Given the description of an element on the screen output the (x, y) to click on. 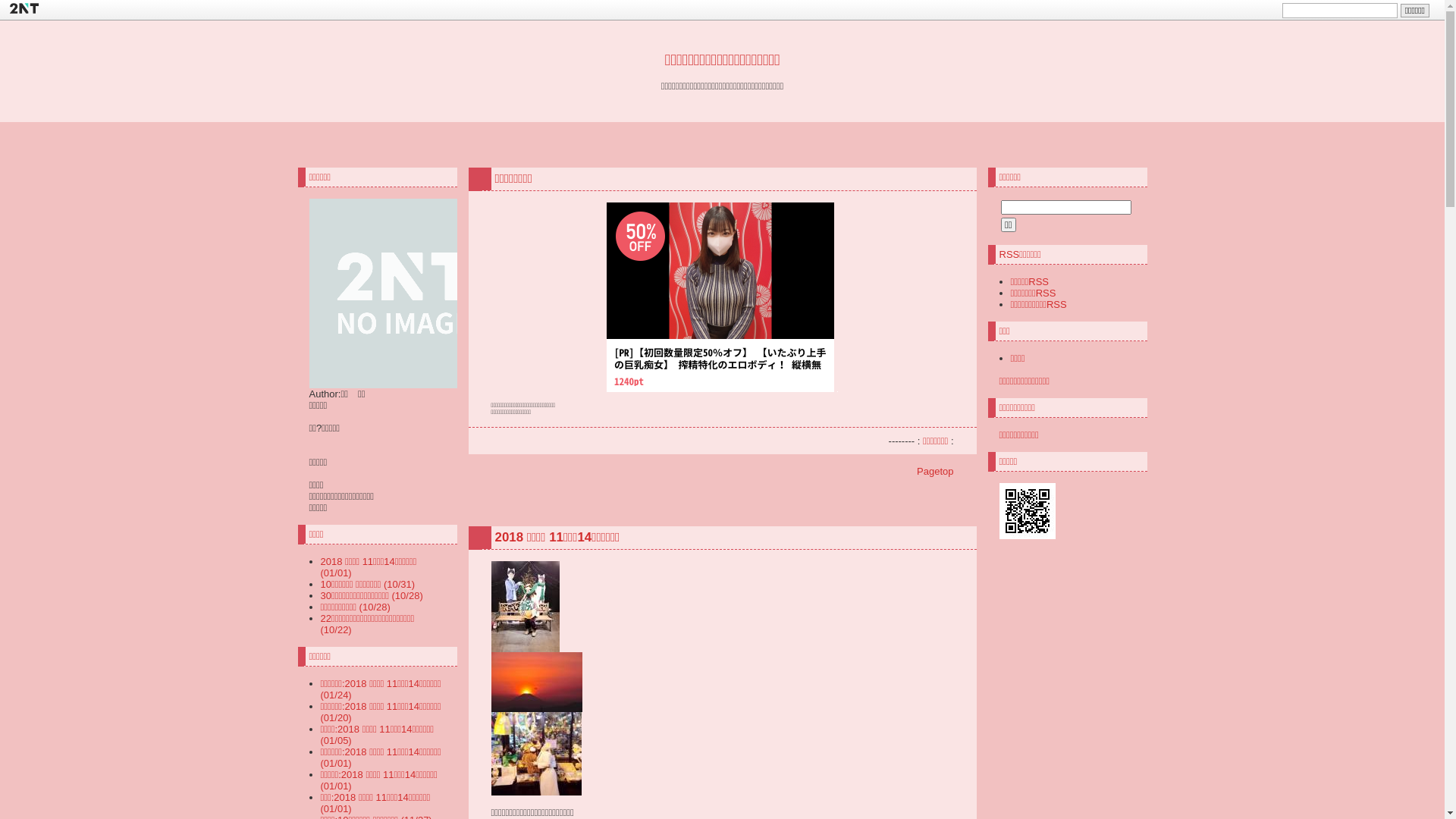
Pagetop Element type: text (934, 470)
